Given the description of an element on the screen output the (x, y) to click on. 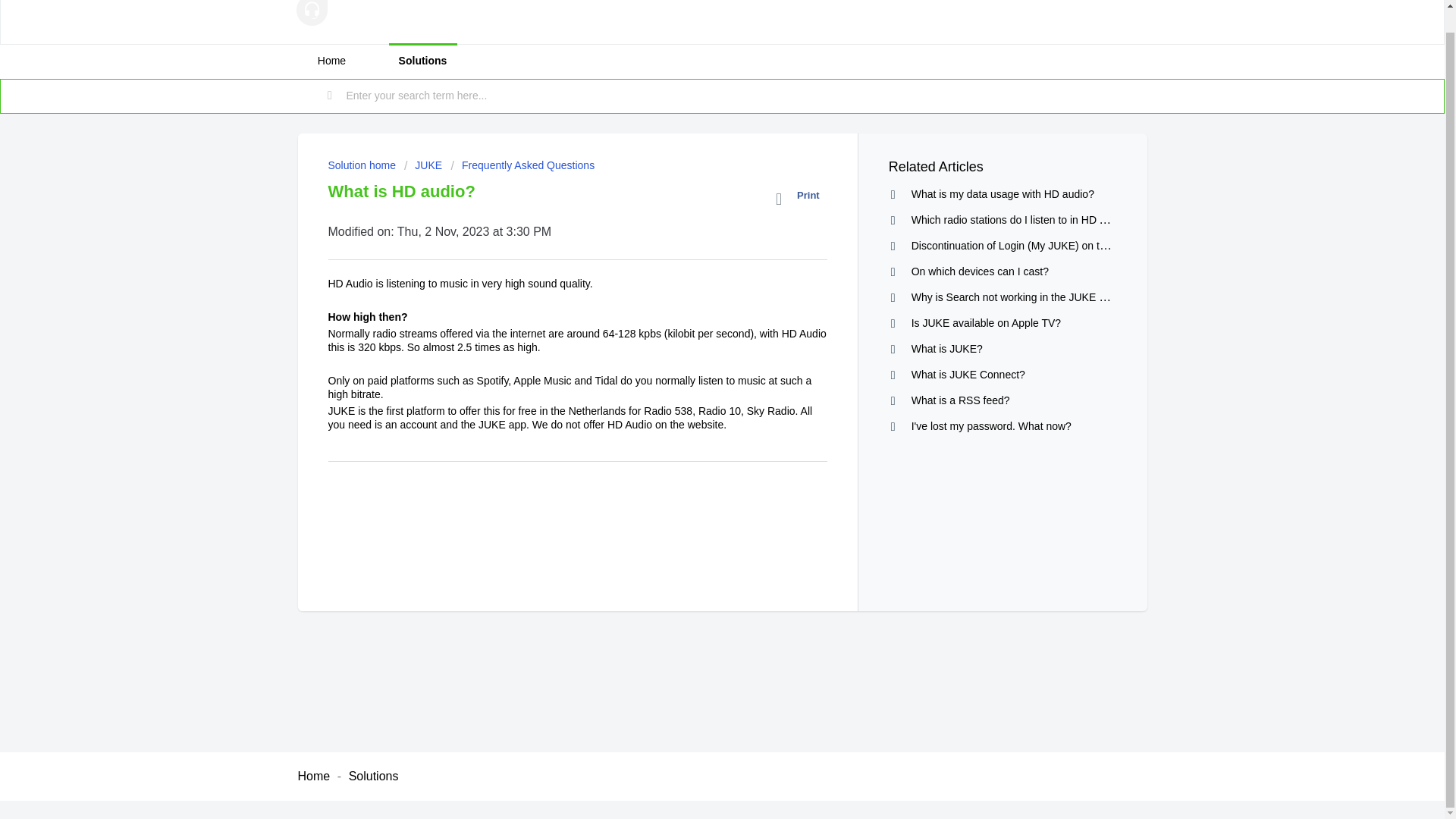
Home (313, 775)
What is JUKE? (946, 348)
Which radio stations do I listen to in HD Audio? (1021, 219)
Is JUKE available on Apple TV? (986, 322)
Solution home (362, 164)
What is JUKE Connect? (968, 374)
Frequently Asked Questions (523, 164)
I've lost my password. What now? (991, 426)
Home (331, 60)
Why is Search not working in the JUKE app? (1016, 296)
What is my data usage with HD audio? (1002, 193)
Solutions (422, 60)
JUKE (423, 164)
What is a RSS feed? (960, 399)
On which devices can I cast? (979, 271)
